Given the description of an element on the screen output the (x, y) to click on. 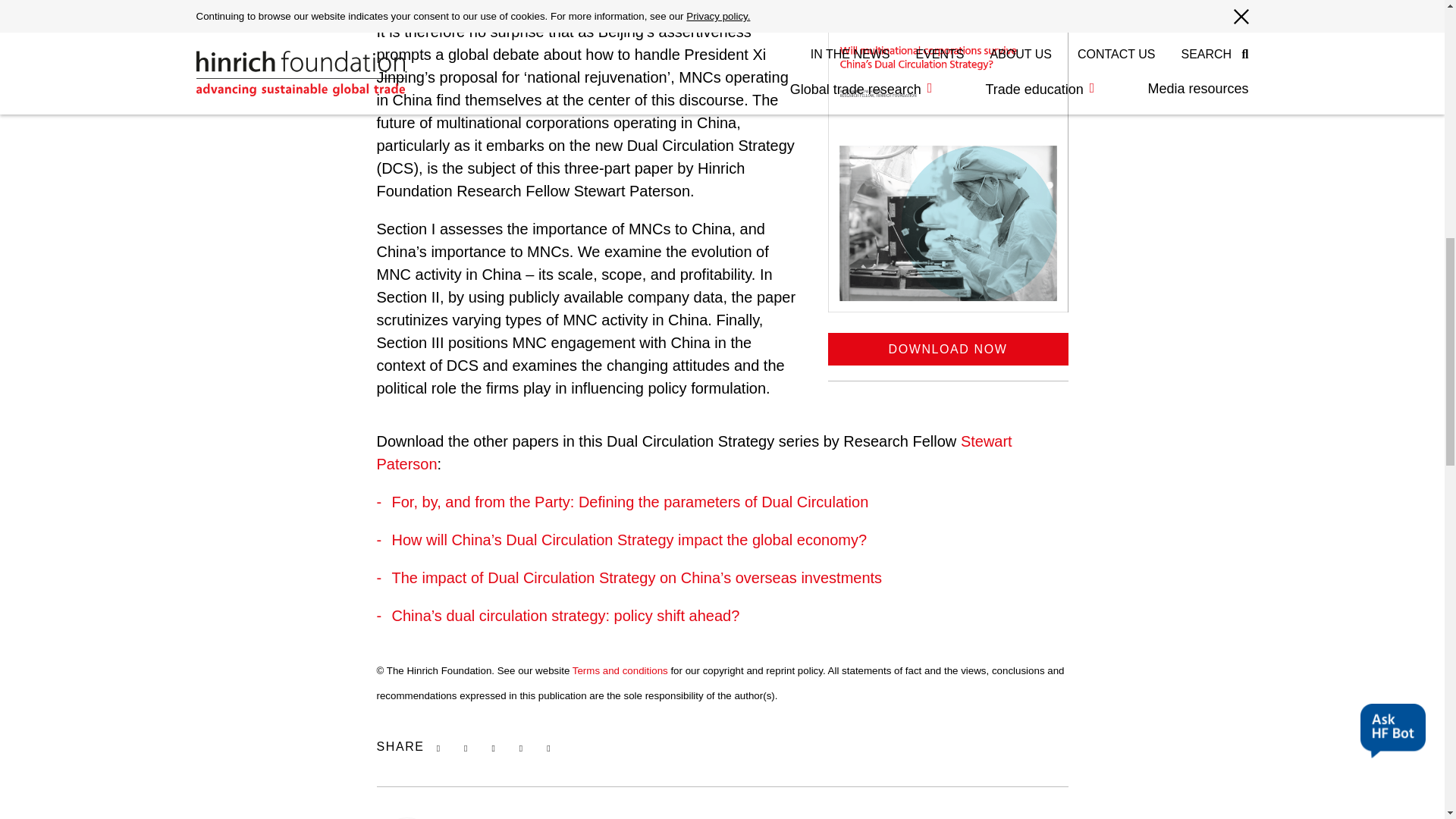
China Dual Circulation Strategy global economy (628, 539)
Stewart Paterson (693, 452)
Defining the parameters of Dual Circulation (629, 501)
Dual Circulation Strategy China overseas investments (636, 577)
Terms and Conditions (620, 670)
